Given the description of an element on the screen output the (x, y) to click on. 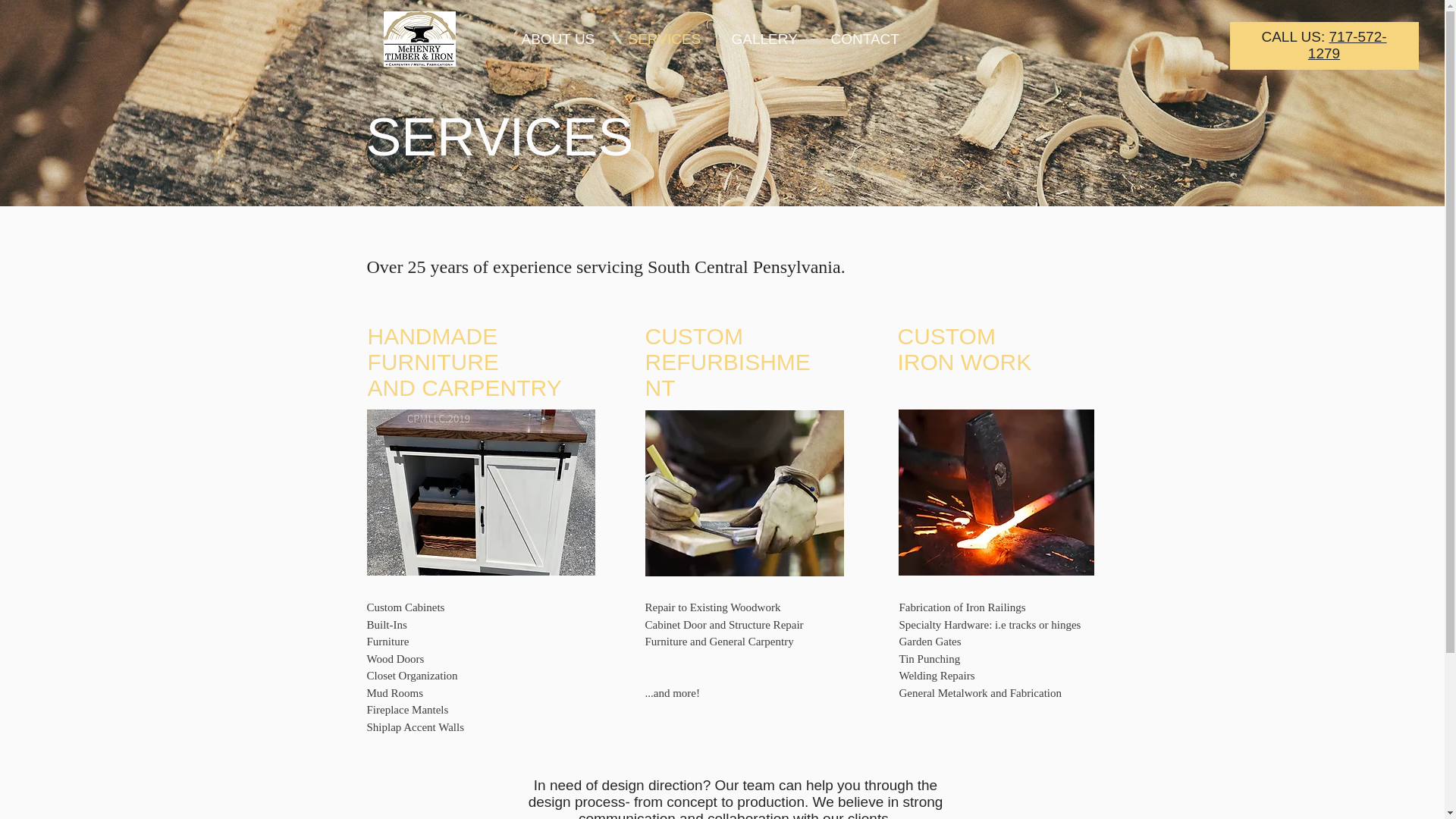
SERVICES (668, 38)
GALLERY (769, 38)
CONTACT (869, 38)
ABOUT US (562, 38)
717-572-1279 (1347, 44)
